Given the description of an element on the screen output the (x, y) to click on. 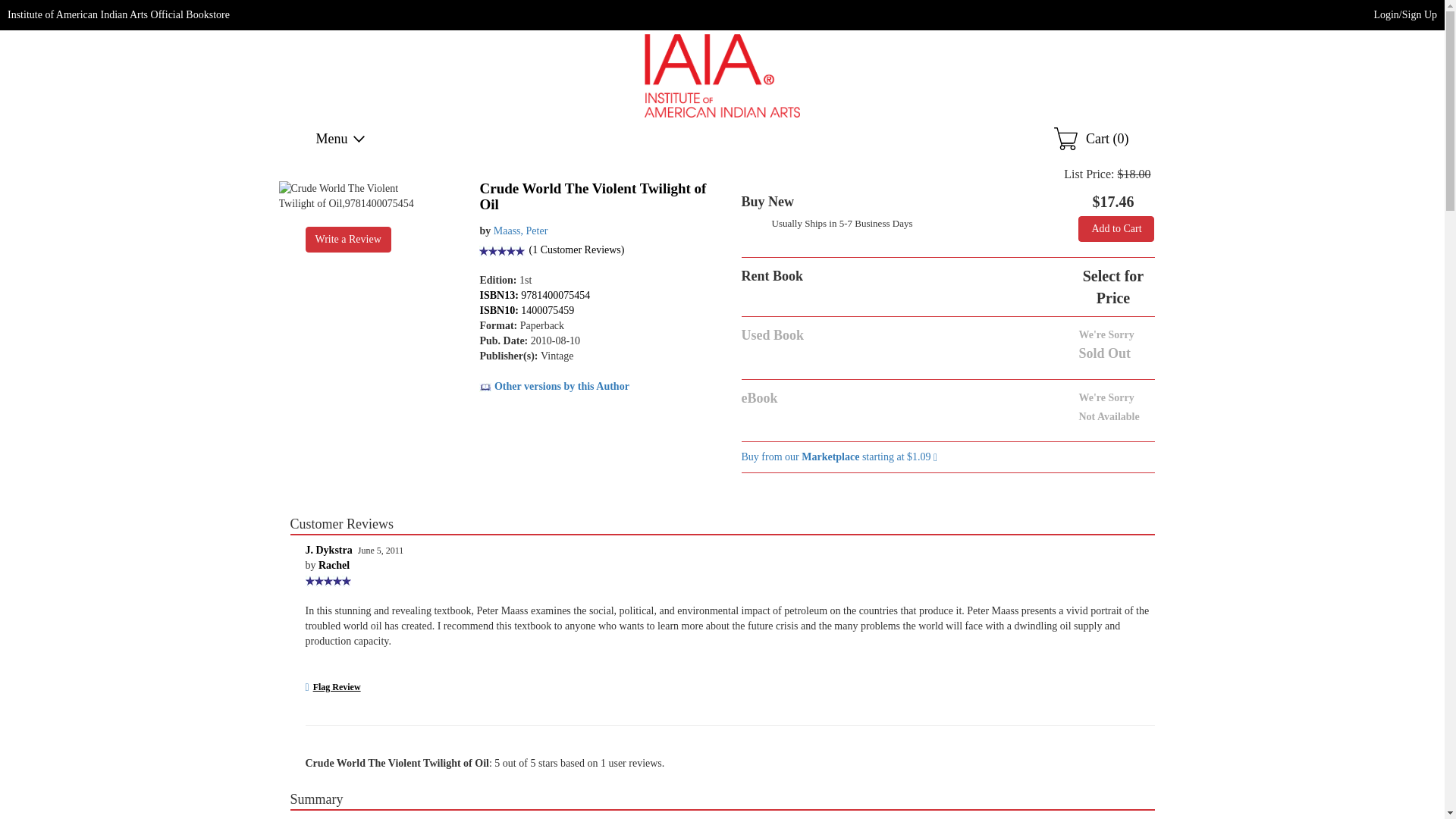
Maass, Peter (520, 230)
Add to Cart (1116, 228)
Crude World The Violent Twilight of Oil,9781400075454 (346, 195)
ISBN10: 1400075459 (526, 310)
ISBN13: 9781400075454 (534, 295)
Institute of American Indian Arts Official Bookstore (118, 14)
Shopping Cart (1091, 138)
Other versions by this Author (553, 386)
Write a Review (347, 239)
Menu (340, 138)
